Given the description of an element on the screen output the (x, y) to click on. 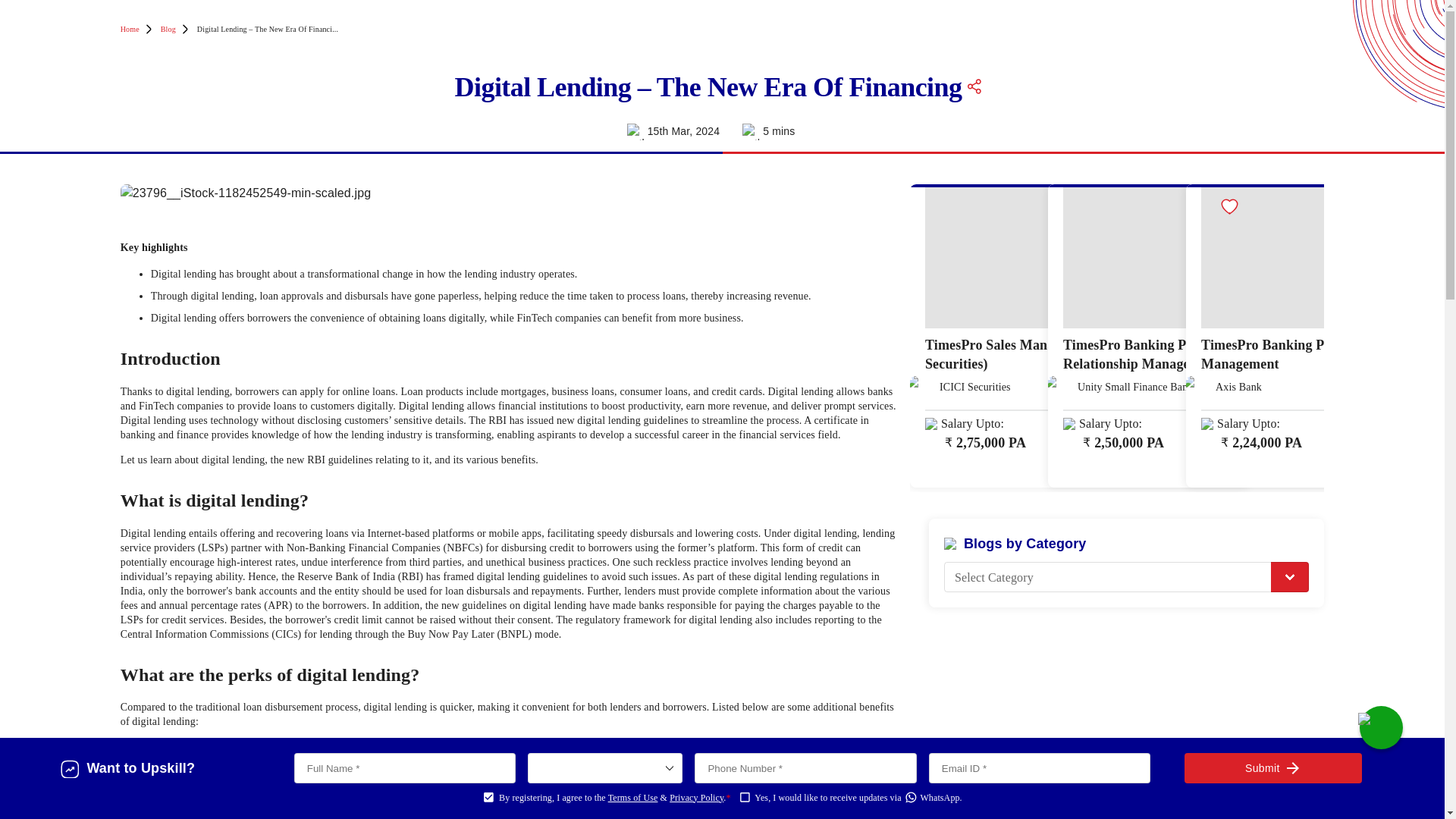
Terms of Use (633, 797)
Blog (168, 29)
Privacy Policy (696, 797)
Submit (1273, 767)
Home (129, 29)
